Given the description of an element on the screen output the (x, y) to click on. 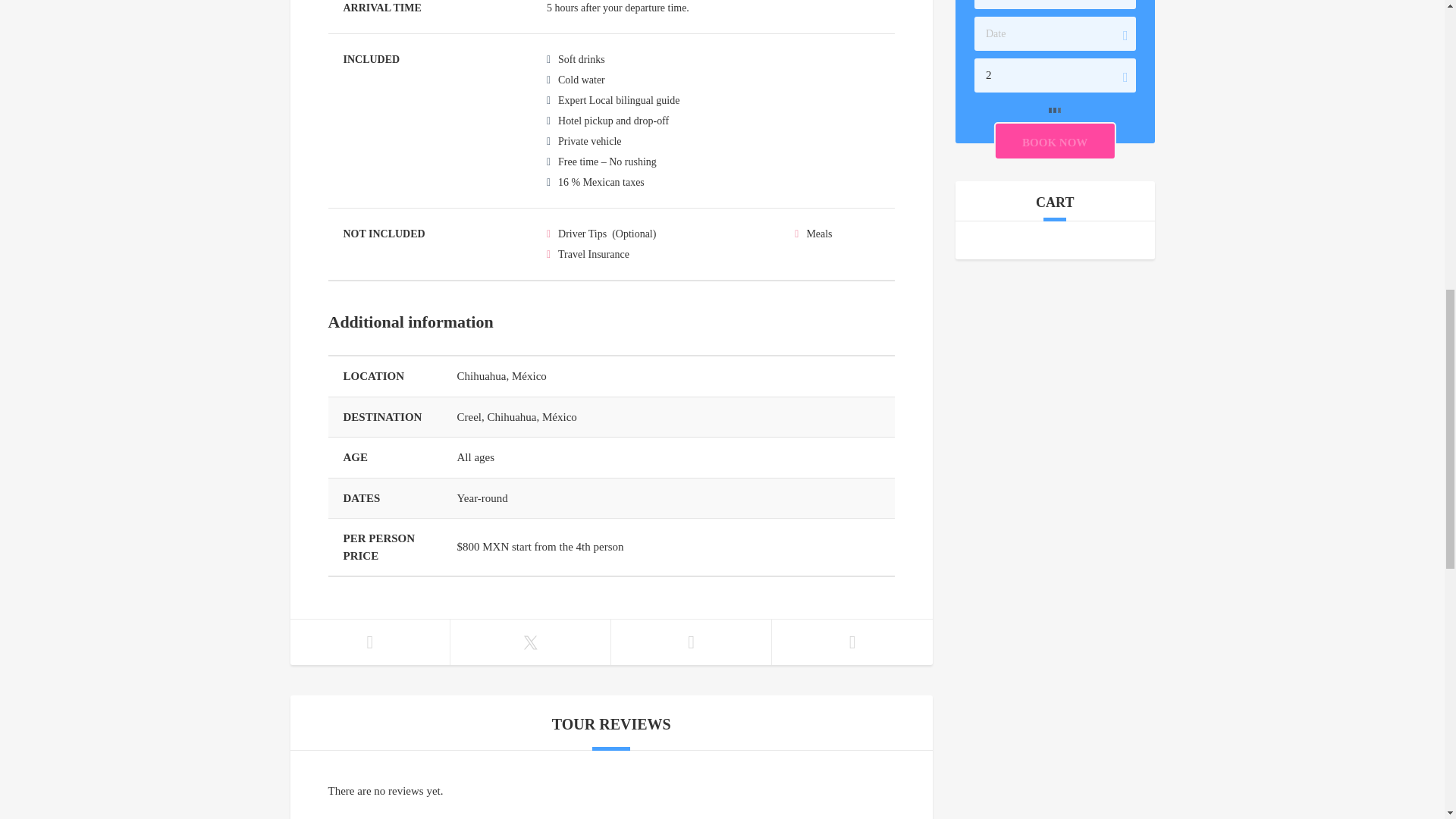
2 (1054, 75)
Book now (1054, 140)
